Given the description of an element on the screen output the (x, y) to click on. 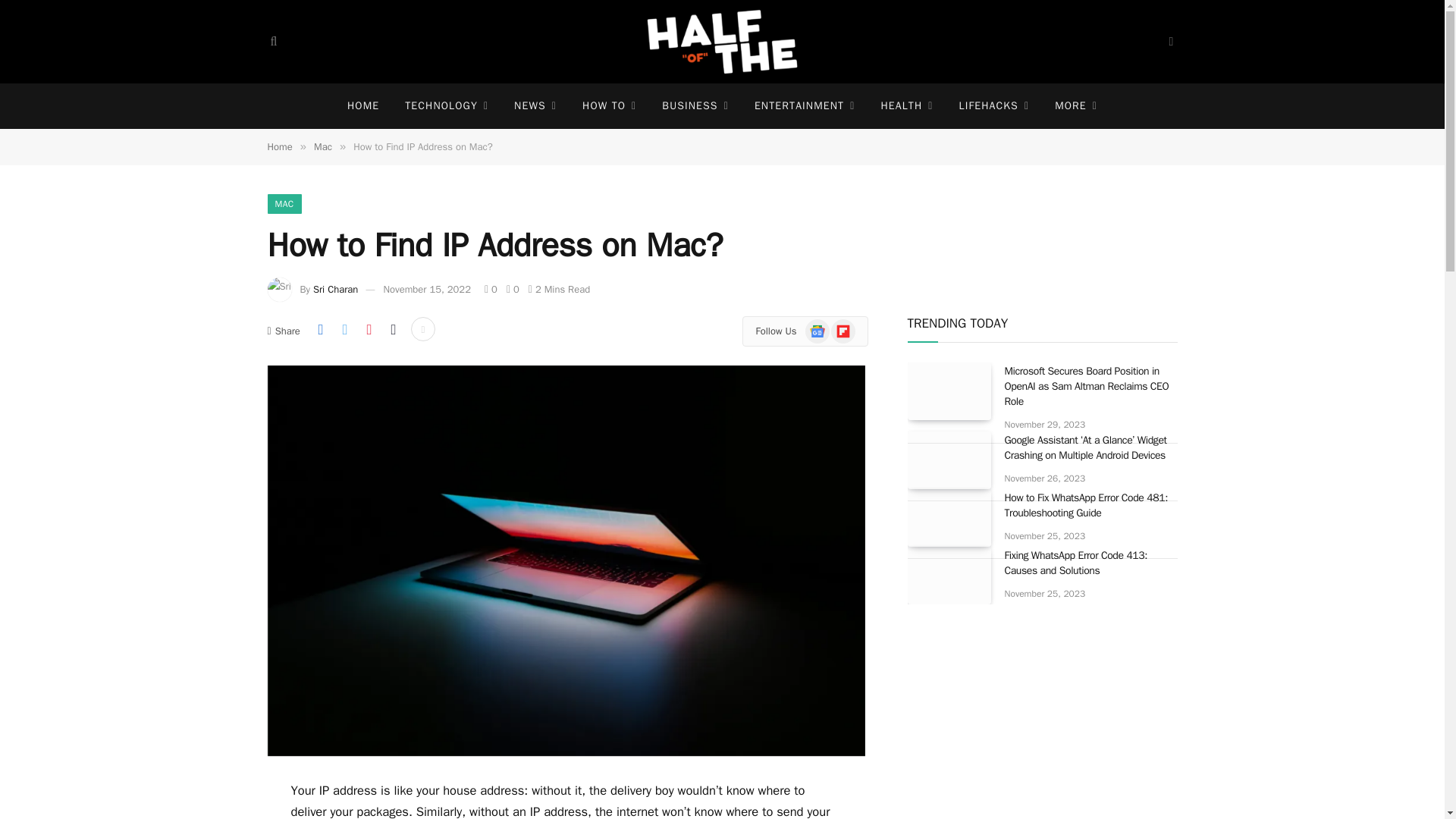
HalfofThe (722, 41)
Switch to Dark Design - easier on eyes. (1168, 41)
